Given the description of an element on the screen output the (x, y) to click on. 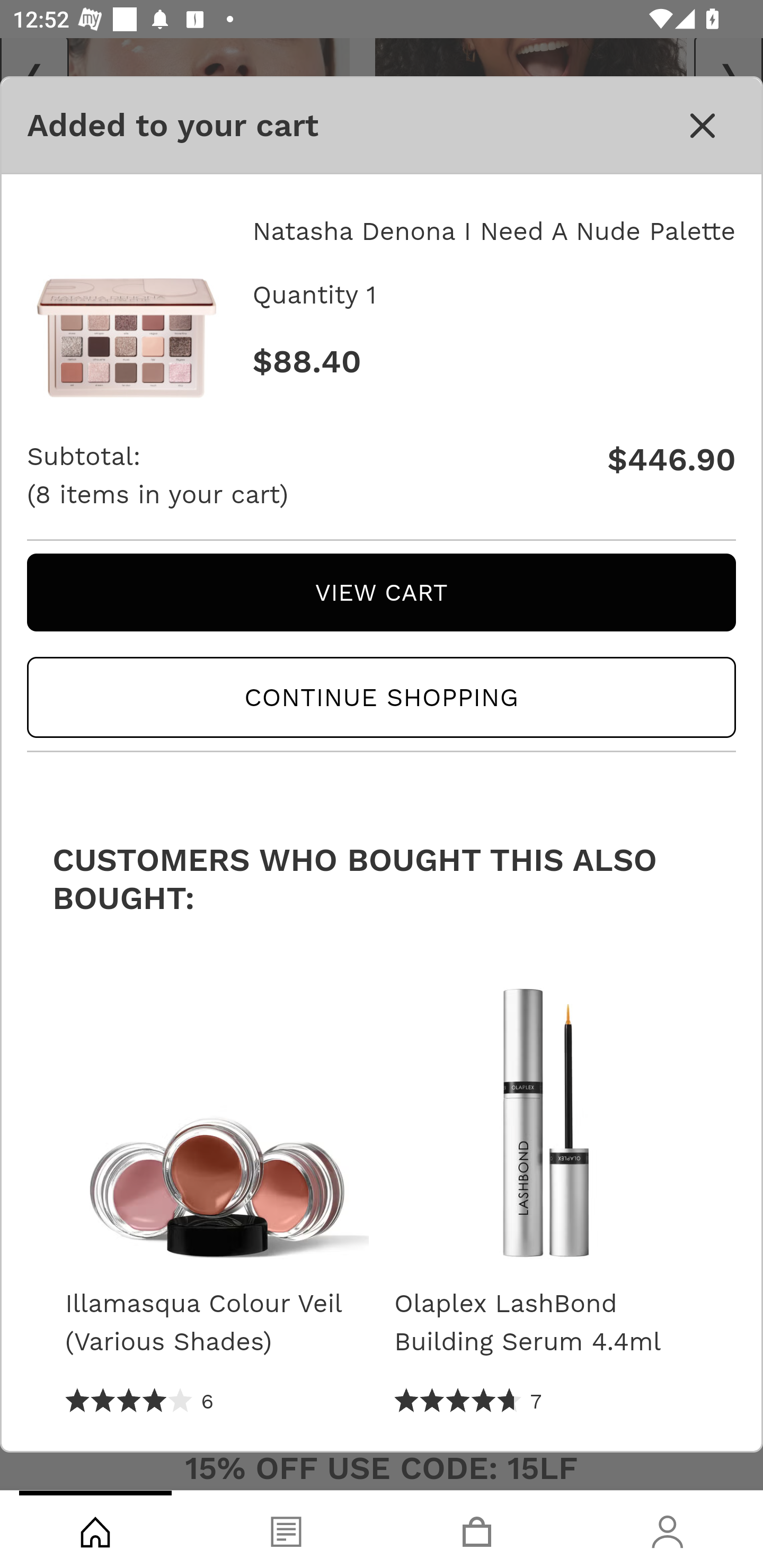
Close (702, 124)
Natasha Denona I Need A Nude Palette (126, 299)
Natasha Denona I Need A Nude Palette (493, 231)
VIEW CART (381, 592)
CONTINUE SHOPPING (381, 697)
Illamasqua Colour Veil (Various Shades) (216, 1113)
Olaplex LashBond Building Serum 4.4ml (546, 1113)
Illamasqua Colour Veil (Various Shades) (216, 1323)
Olaplex LashBond Building Serum 4.4ml (546, 1323)
Shop, tab, 1 of 4 (95, 1529)
Blog, tab, 2 of 4 (285, 1529)
Basket, tab, 3 of 4 (476, 1529)
Account, tab, 4 of 4 (667, 1529)
